Given the description of an element on the screen output the (x, y) to click on. 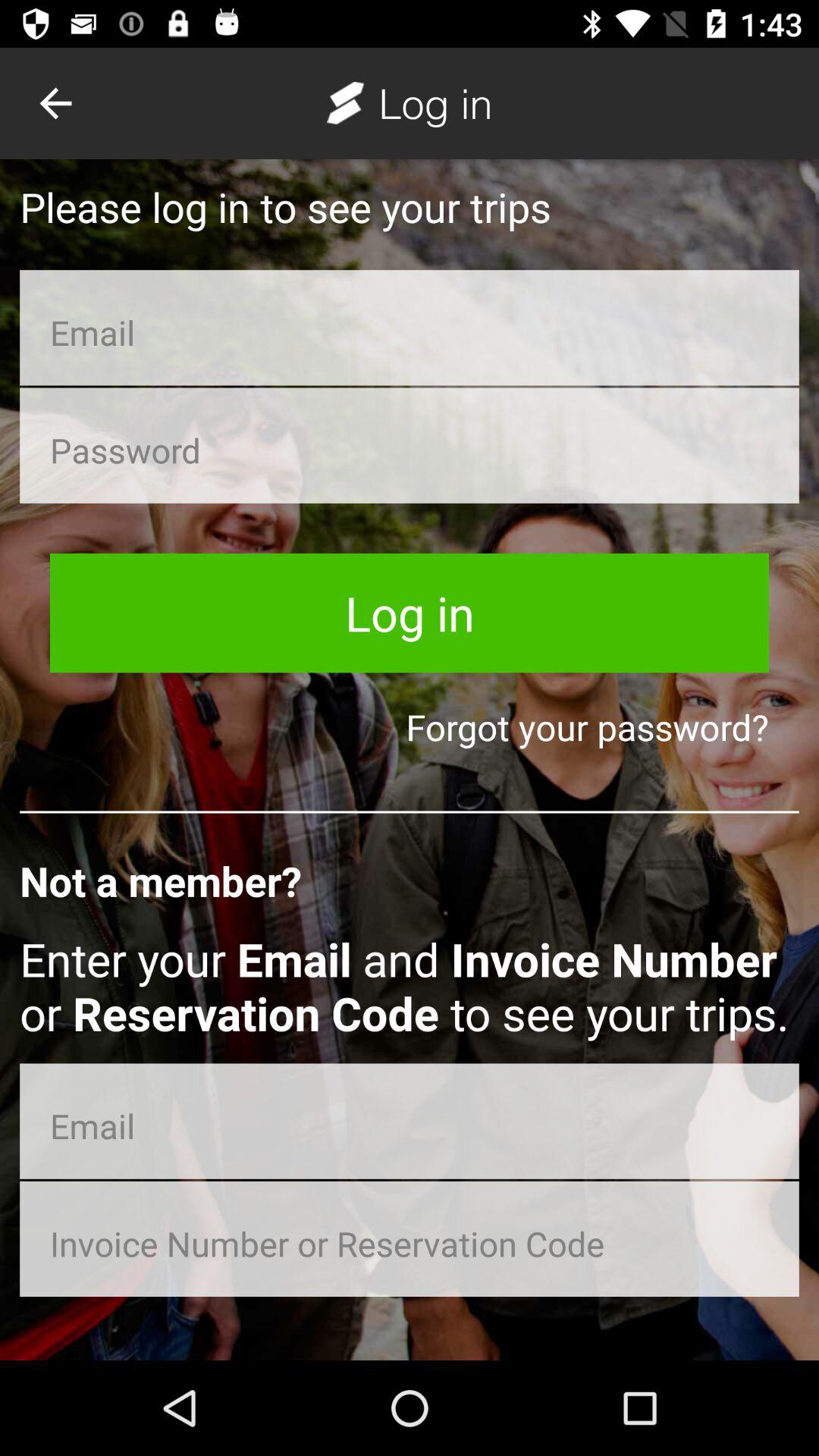
choose the icon at the top left corner (55, 103)
